Given the description of an element on the screen output the (x, y) to click on. 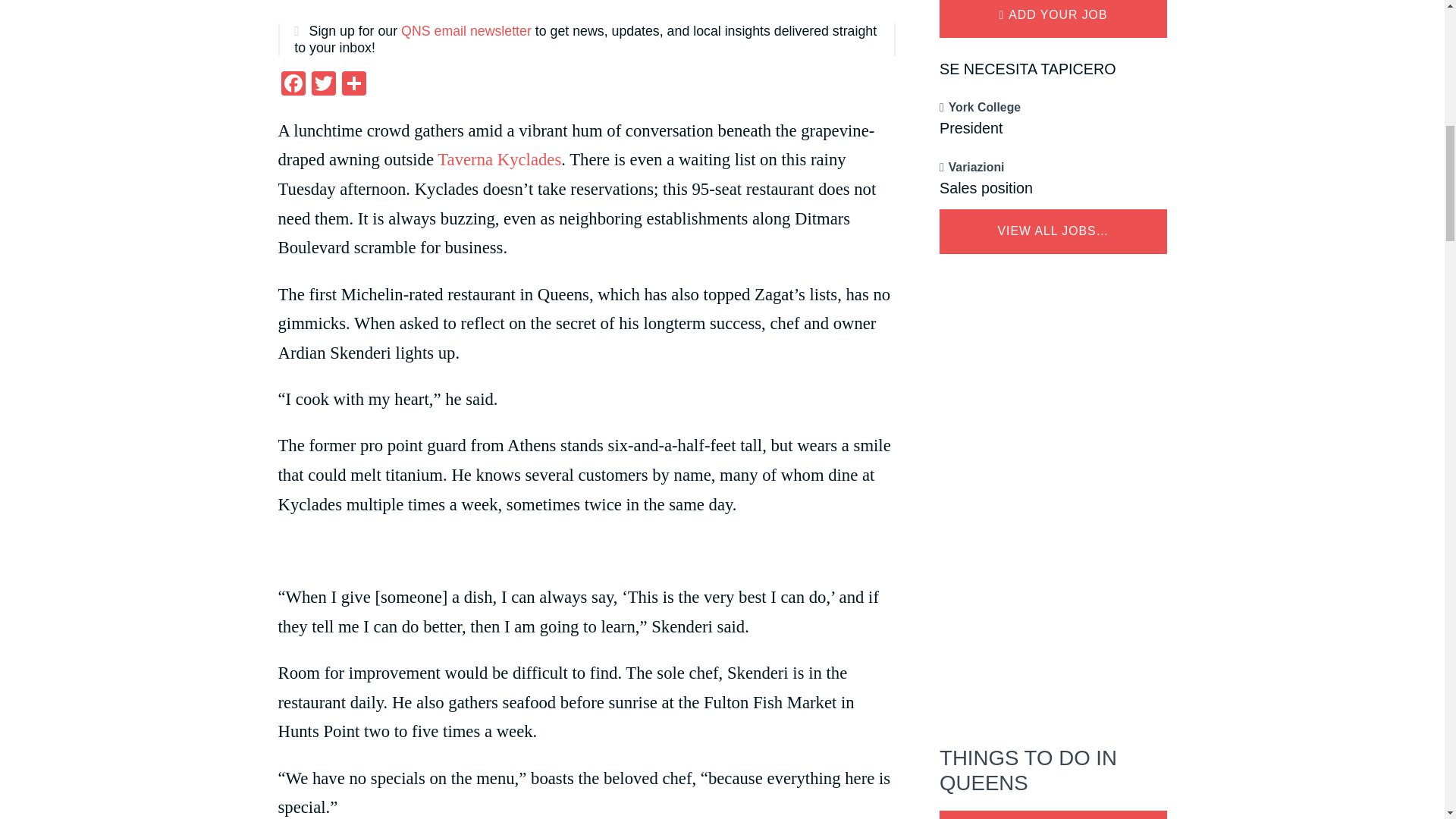
Facebook (292, 85)
Twitter (322, 85)
